Given the description of an element on the screen output the (x, y) to click on. 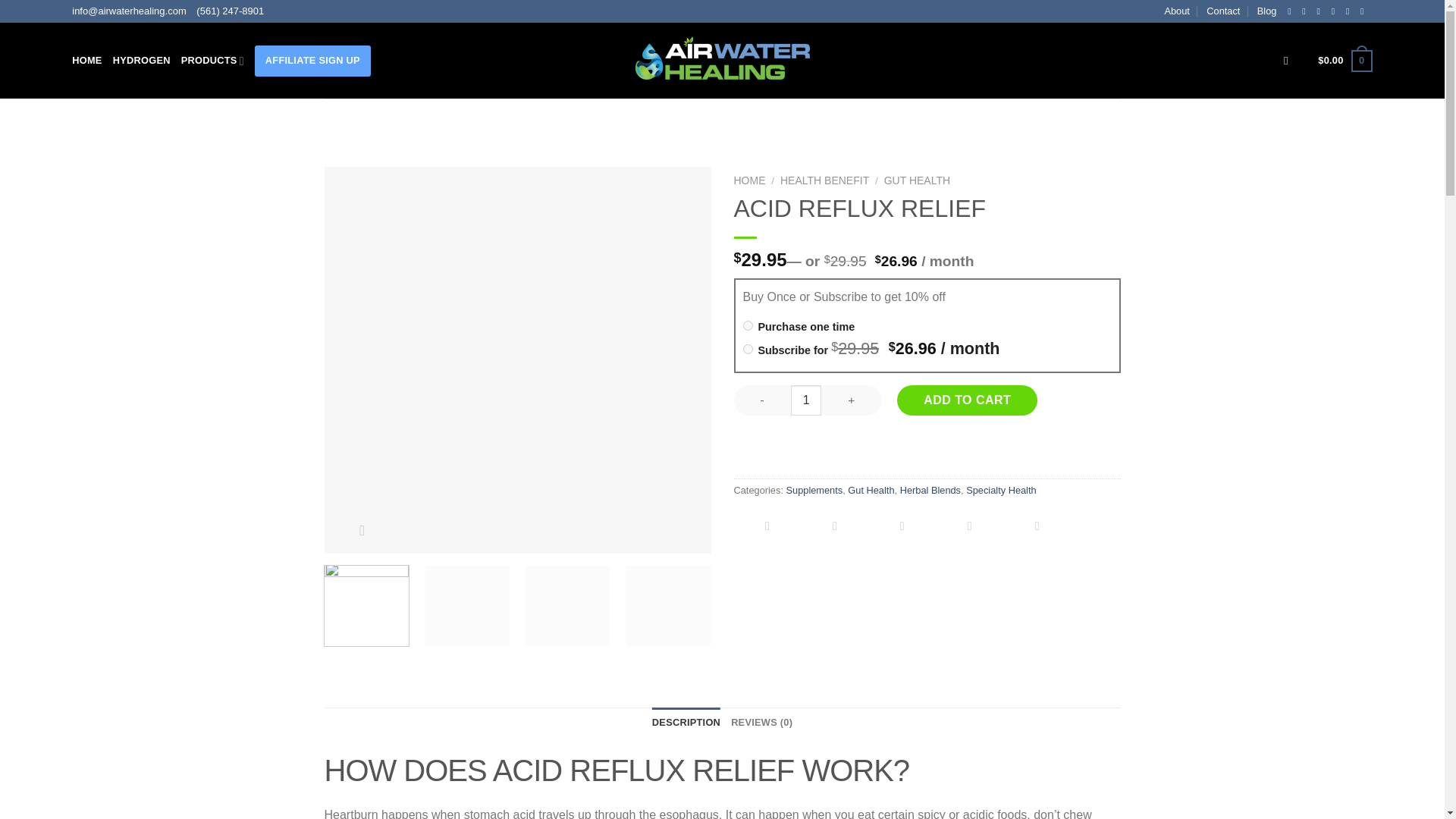
Cart (1344, 61)
Contact (1223, 11)
About (1176, 11)
HYDROGEN (141, 60)
1 (805, 399)
PRODUCTS (212, 60)
HOME (86, 60)
no (747, 325)
- (762, 399)
